Given the description of an element on the screen output the (x, y) to click on. 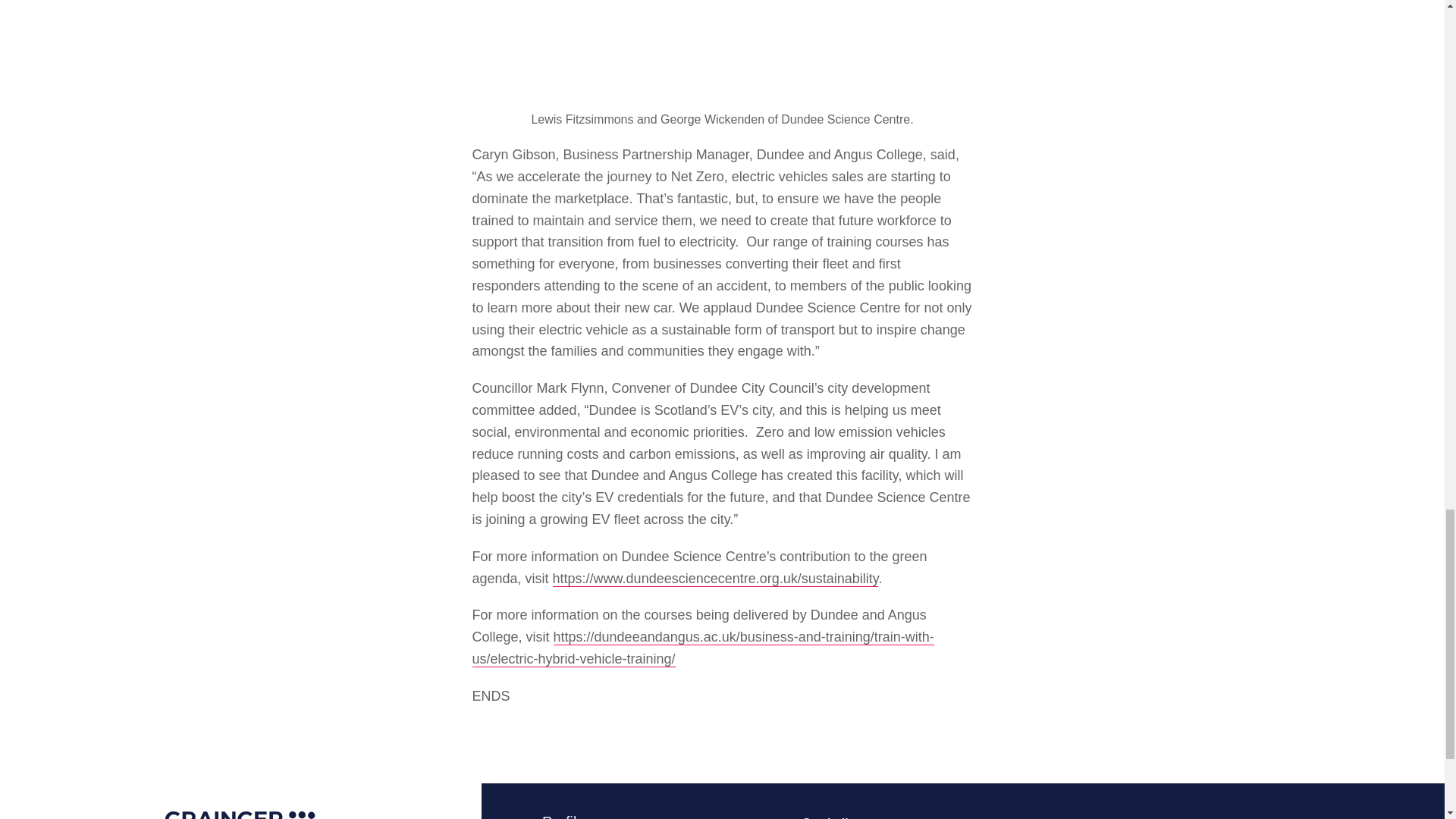
Profile (563, 812)
Return to Grainger PR's homepage (239, 800)
Grainger PR (239, 800)
